Given the description of an element on the screen output the (x, y) to click on. 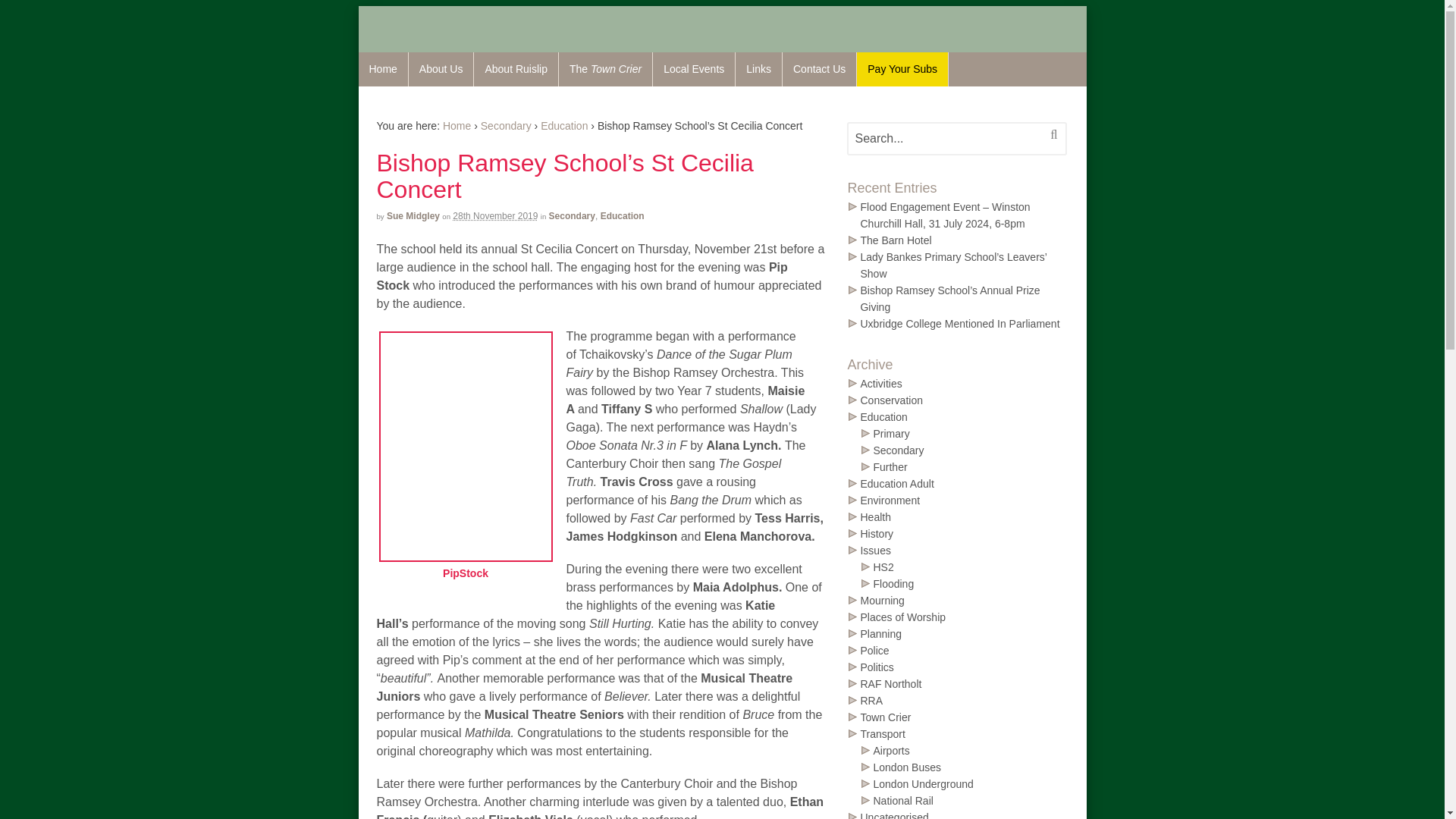
Online Membership Payment (902, 69)
View all posts in Secondary (505, 125)
About Ruislip (515, 69)
About Us (441, 69)
Search... (945, 138)
View all posts in Education (564, 125)
Home (382, 69)
Posts by Sue Midgley (413, 215)
